Given the description of an element on the screen output the (x, y) to click on. 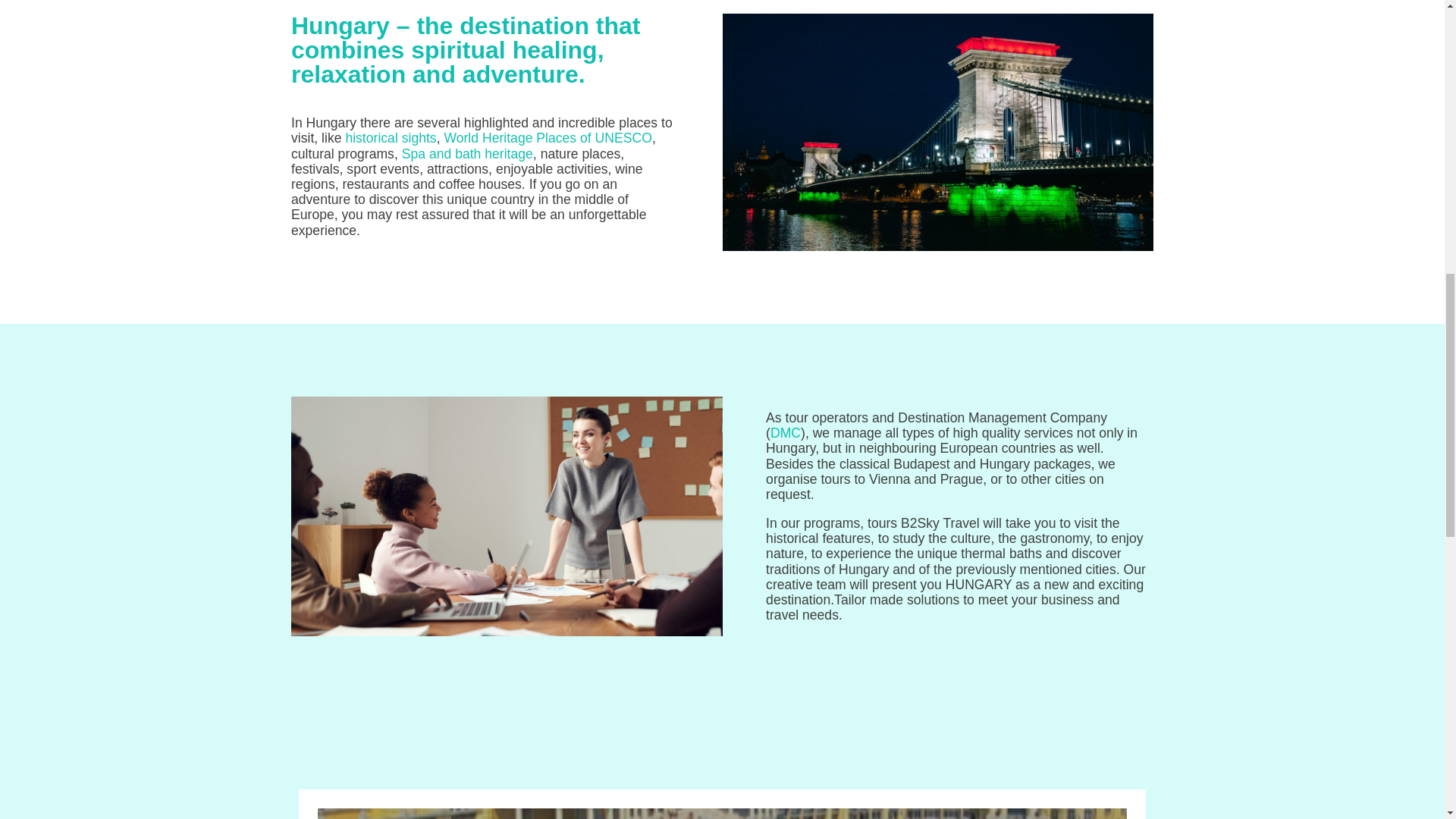
Spa and bath heritage (466, 152)
DMC (785, 432)
historical sights (390, 137)
World Heritage Places of UNESCO (547, 137)
